Given the description of an element on the screen output the (x, y) to click on. 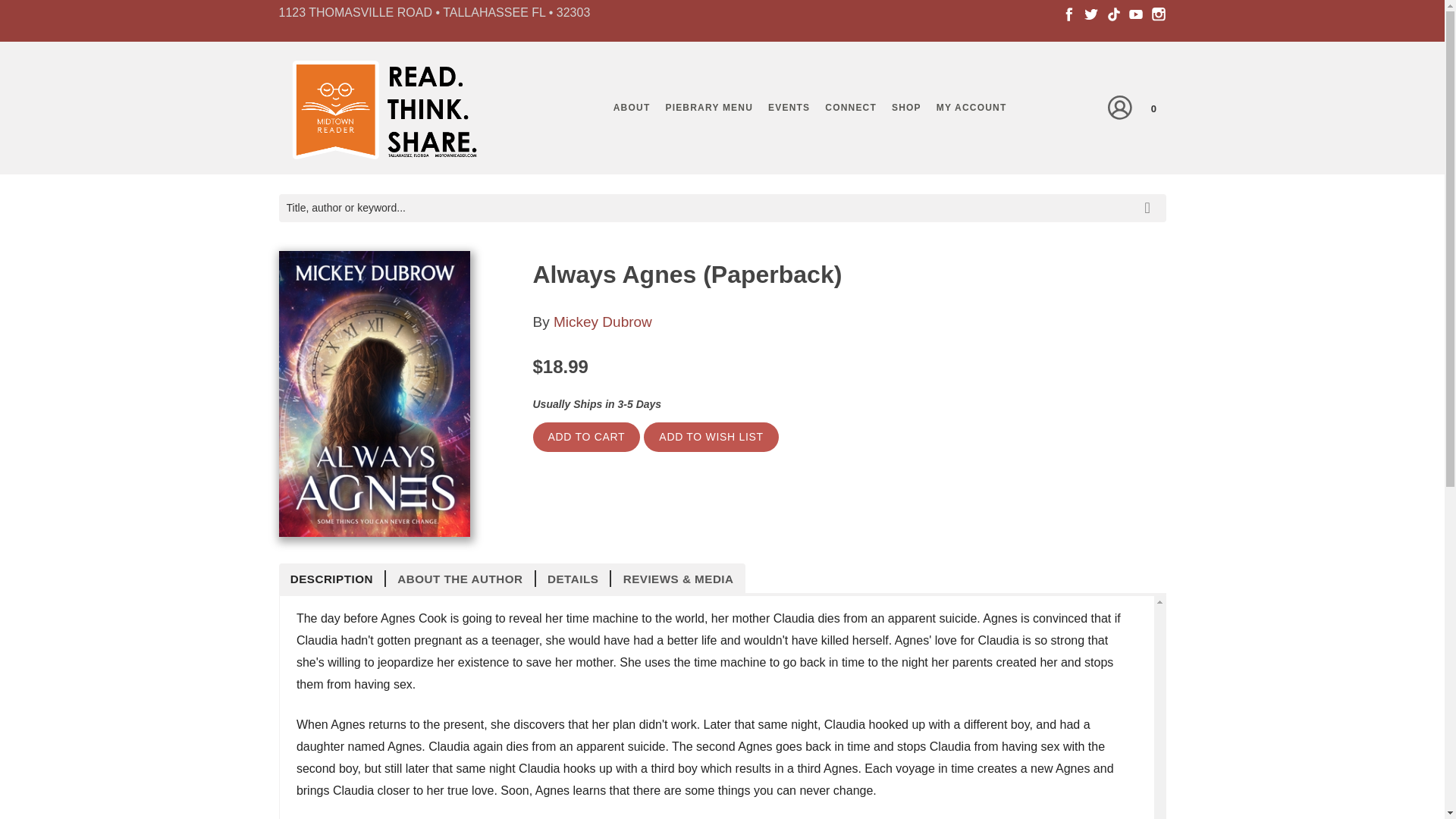
PIEBRARY MENU (709, 107)
ABOUT THE AUTHOR (460, 578)
search (1150, 196)
Mickey Dubrow (602, 321)
Title, author or keyword... (722, 207)
Add to Cart (586, 437)
MY ACCOUNT (971, 107)
Home (381, 112)
EVENTS (788, 107)
DETAILS (573, 578)
DESCRIPTION (333, 578)
SHOP (905, 107)
CONNECT (849, 107)
Add to Cart (586, 437)
